Given the description of an element on the screen output the (x, y) to click on. 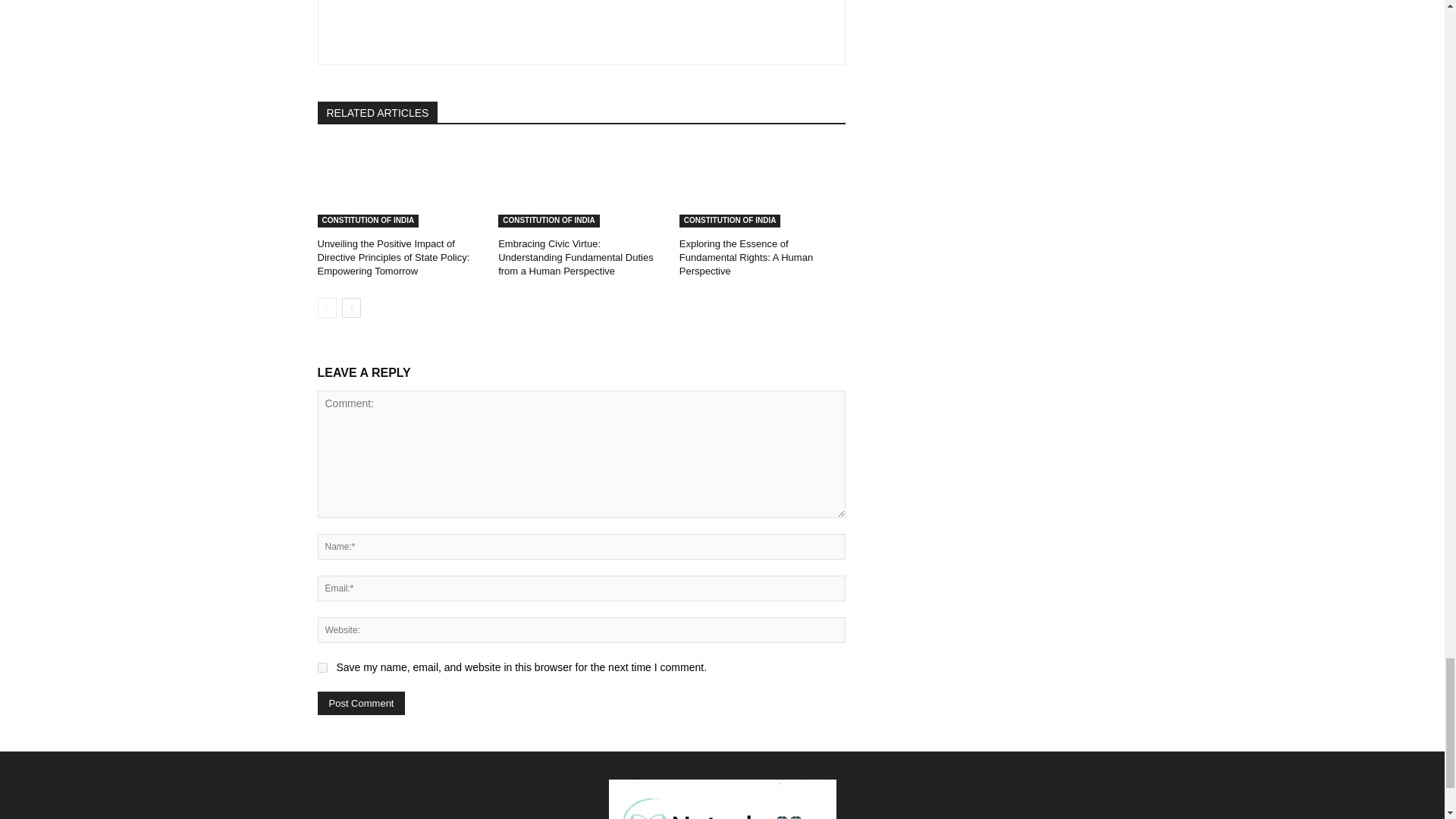
yes (321, 667)
Post Comment (360, 702)
